Given the description of an element on the screen output the (x, y) to click on. 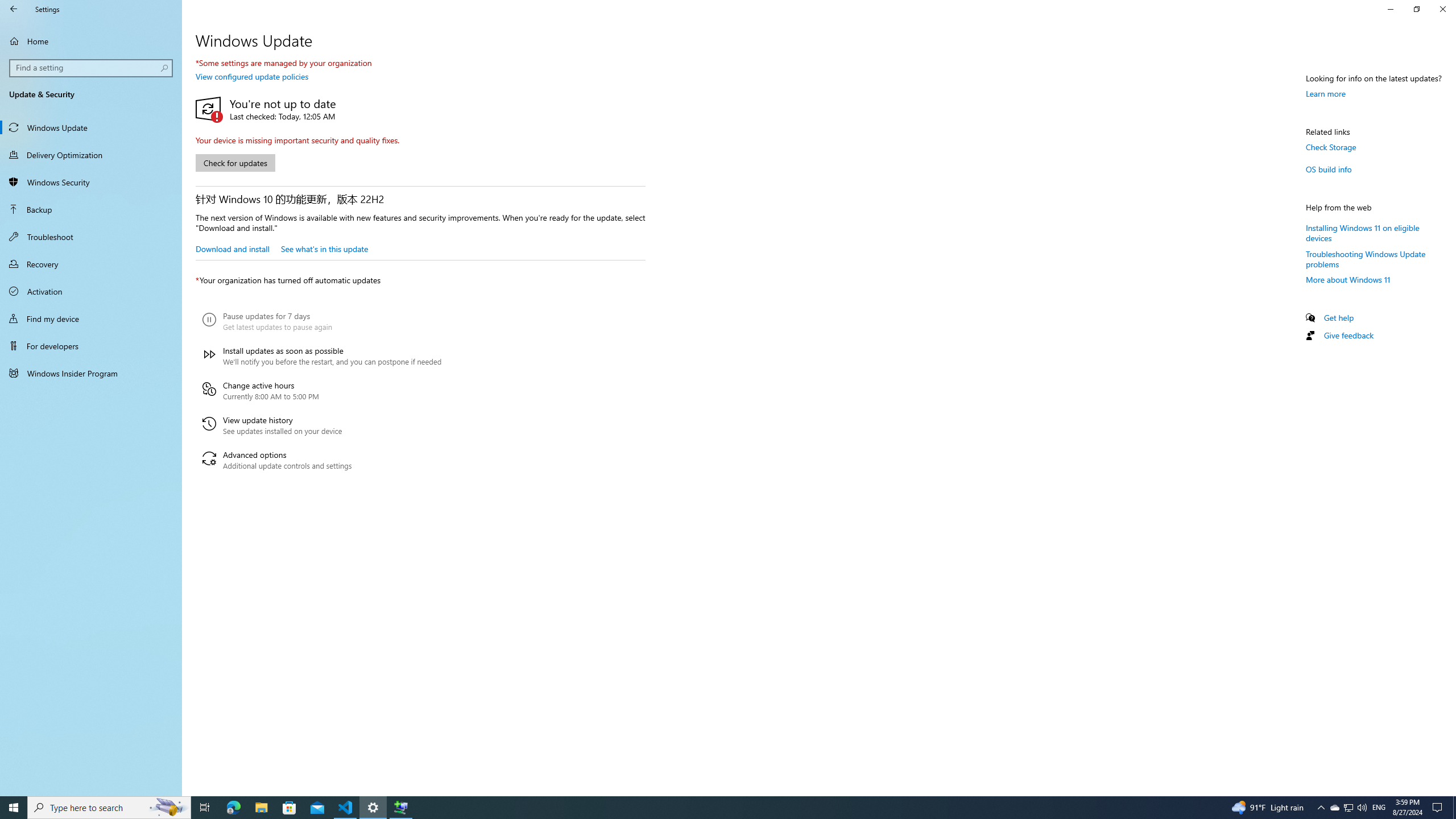
Troubleshoot (91, 236)
Installing Windows 11 on eligible devices (1362, 232)
View update history (321, 425)
Download and install (232, 248)
Windows Insider Program (91, 372)
Get help (1338, 317)
Delivery Optimization (91, 154)
Search box, Find a setting (91, 67)
Windows Security (91, 181)
Pause updates for 7 days (321, 321)
Recovery (91, 263)
For developers (91, 345)
